Given the description of an element on the screen output the (x, y) to click on. 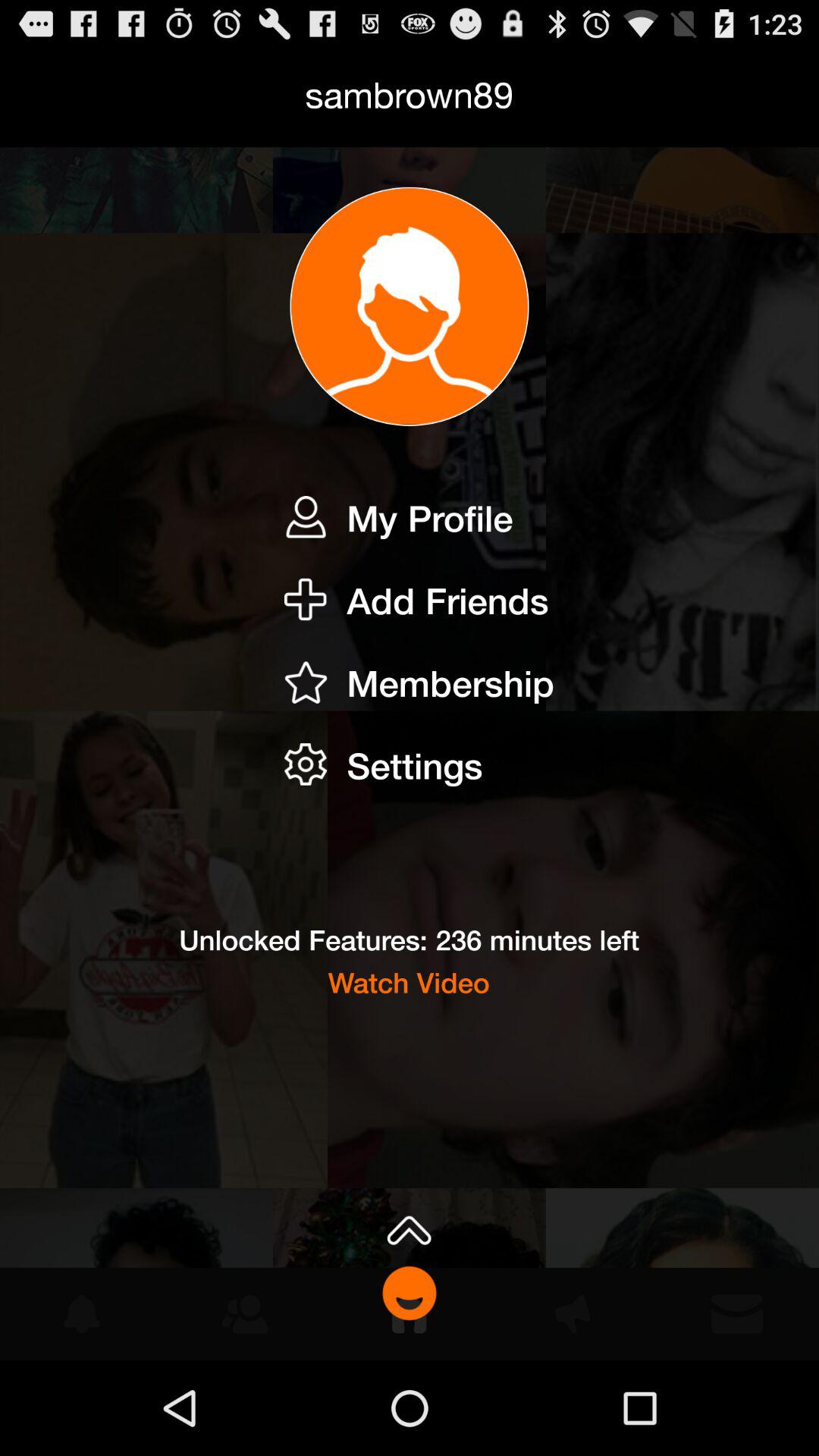
profile image (409, 306)
